Given the description of an element on the screen output the (x, y) to click on. 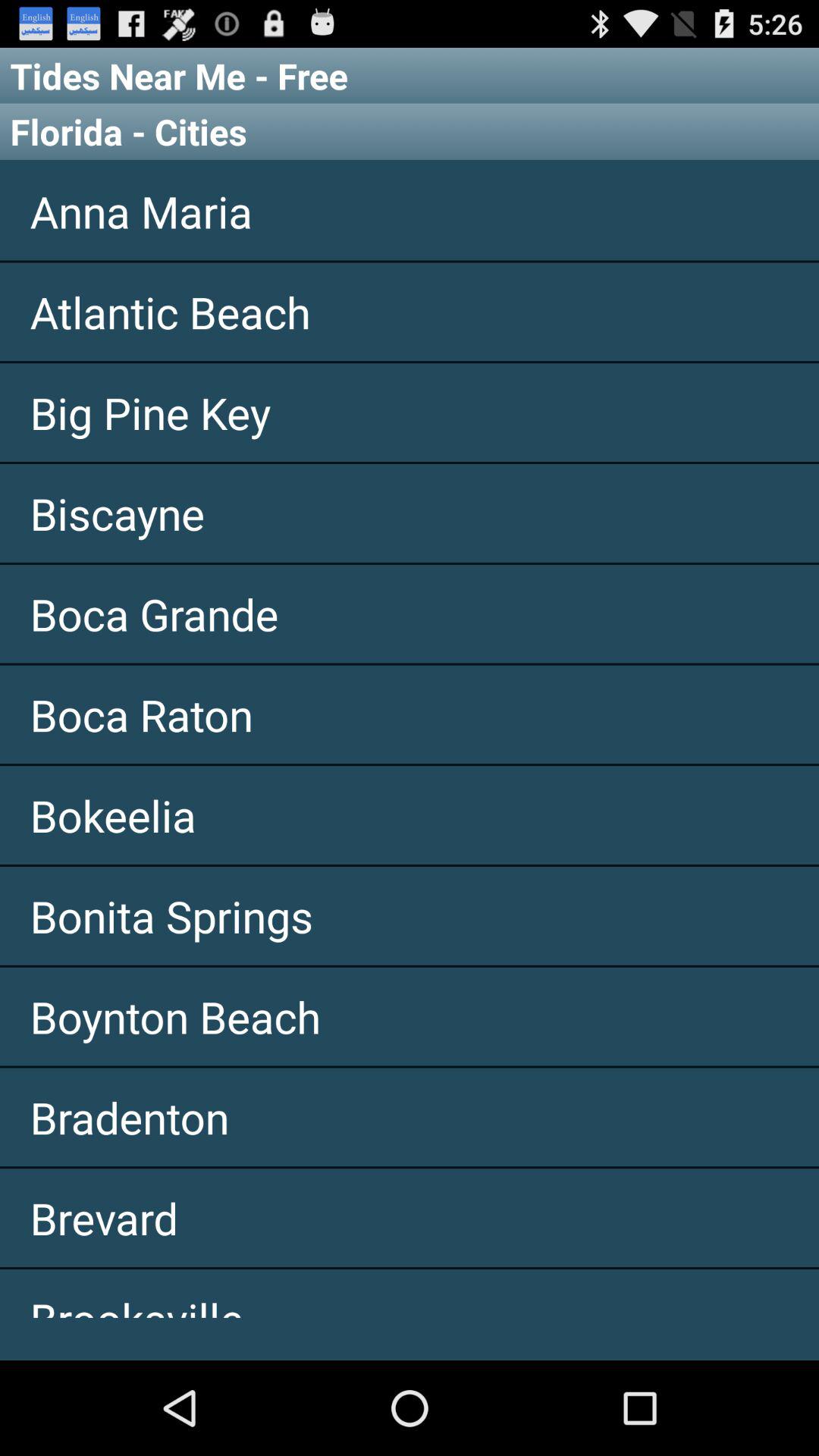
choose item above bonita springs item (409, 815)
